Given the description of an element on the screen output the (x, y) to click on. 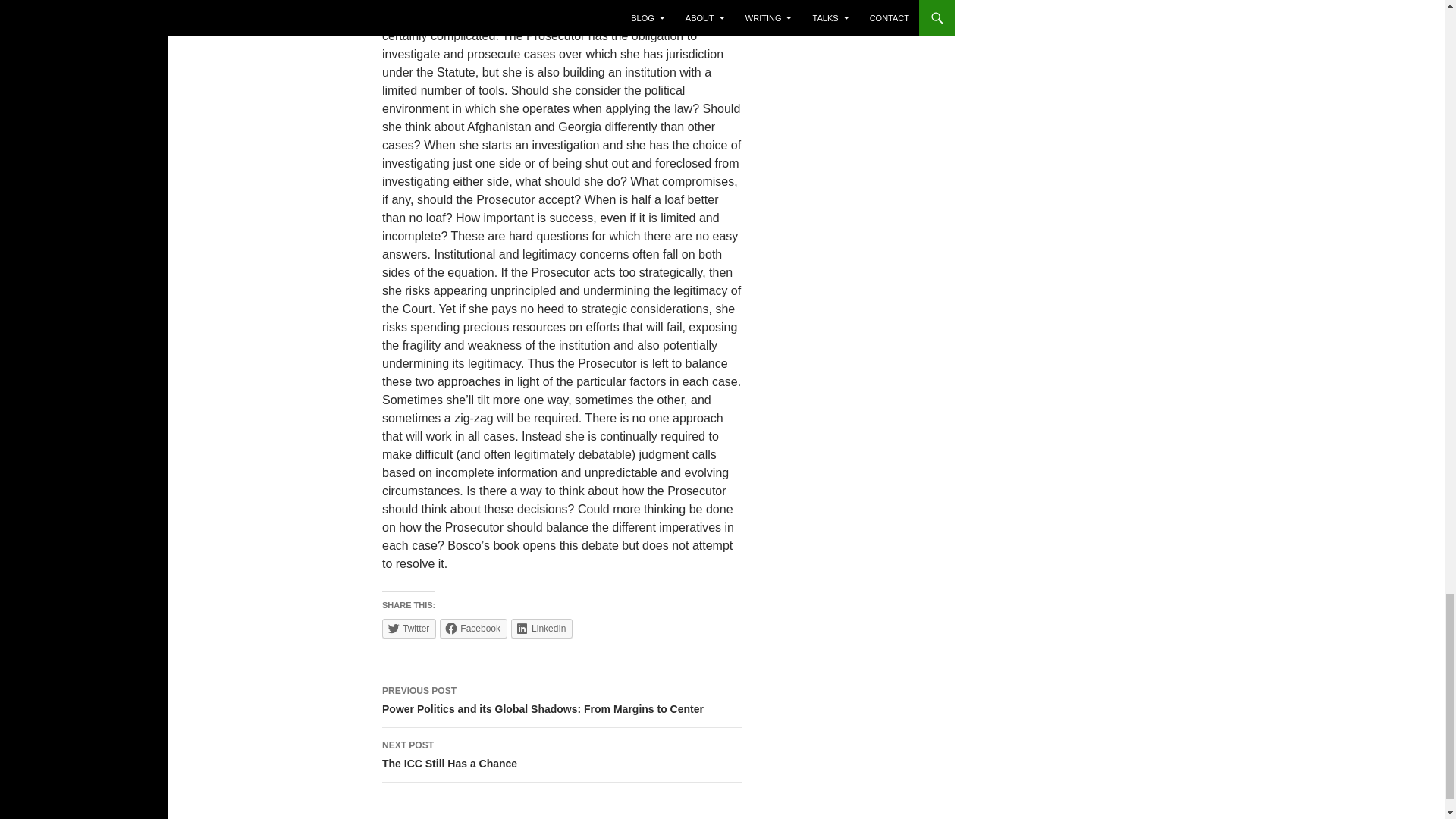
Twitter (408, 628)
Click to share on LinkedIn (541, 628)
LinkedIn (541, 628)
Facebook (561, 755)
Click to share on Twitter (472, 628)
Click to share on Facebook (408, 628)
